Given the description of an element on the screen output the (x, y) to click on. 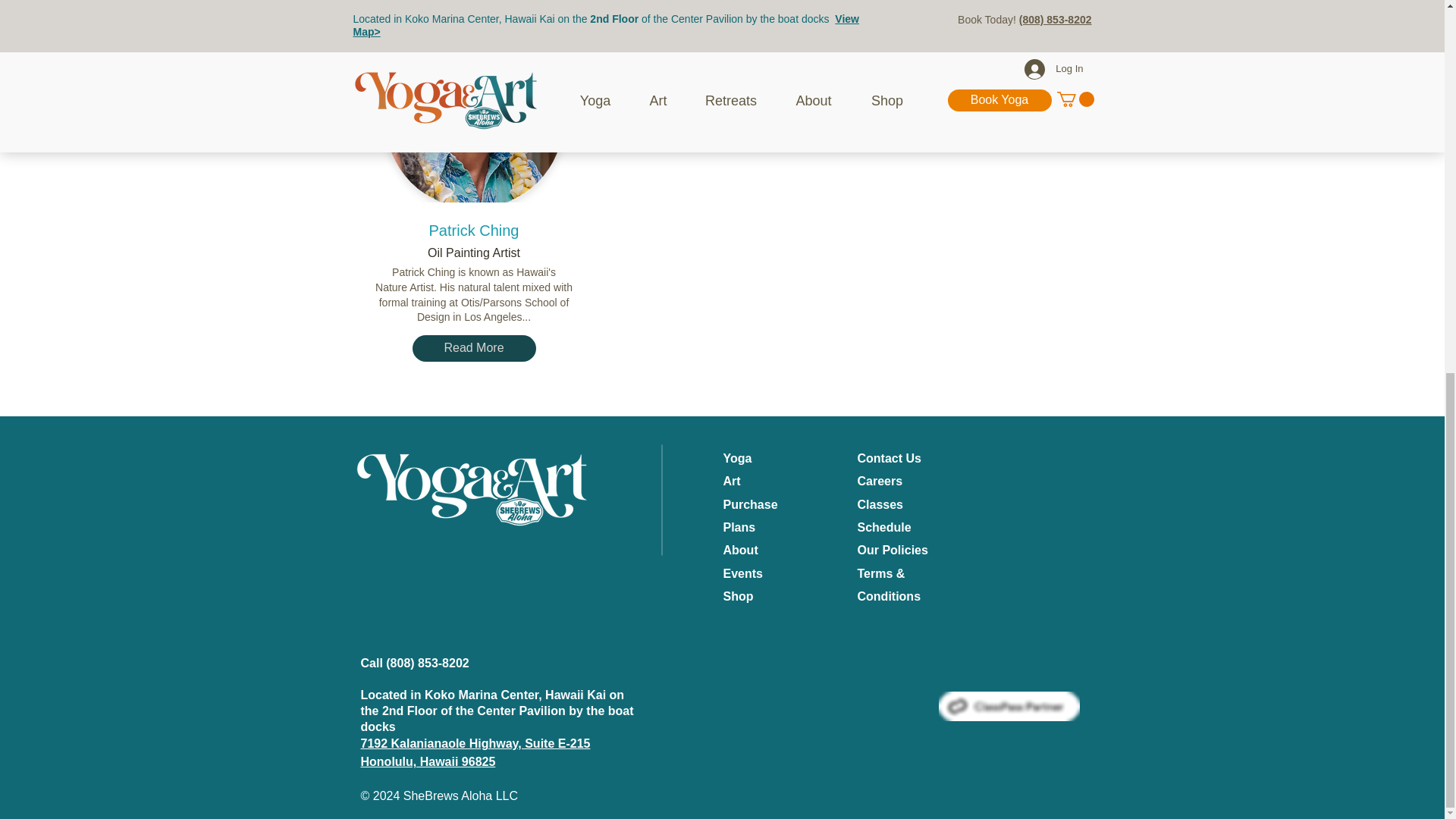
About (740, 549)
Read More (473, 347)
Yoga (737, 458)
Art (732, 481)
Contact Us (888, 458)
Careers (879, 481)
Shop (738, 595)
Patrick Ching.png (473, 101)
Purchase Plans (750, 515)
Events (742, 573)
Classes (879, 504)
7192 Kalanianaole Highway, Suite E-215 (476, 743)
Schedule (884, 526)
Our Policies (892, 549)
